Given the description of an element on the screen output the (x, y) to click on. 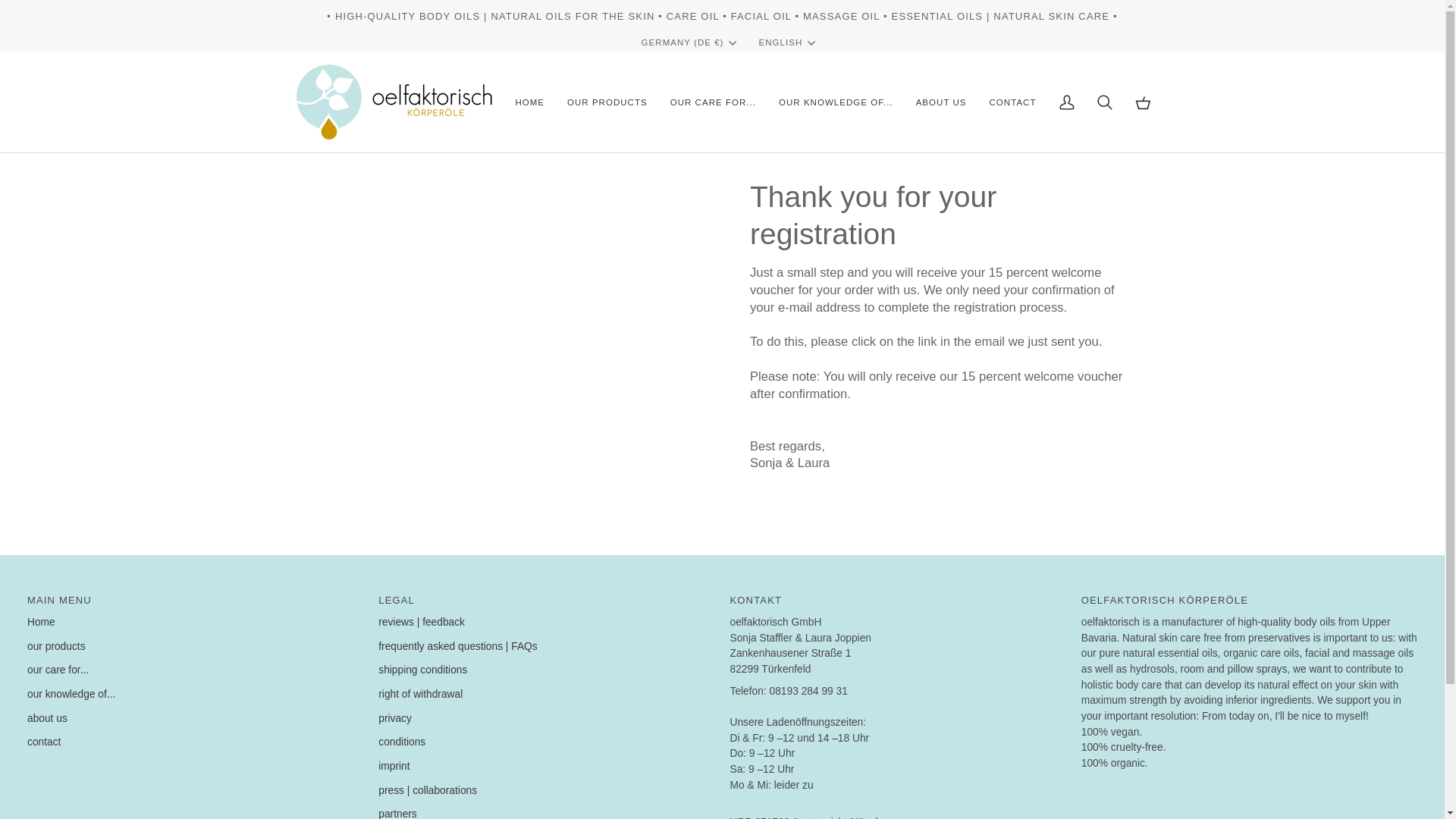
OUR PRODUCTS (607, 102)
OUR CARE FOR... (713, 102)
OUR KNOWLEDGE OF... (835, 102)
ENGLISH (787, 42)
